Given the description of an element on the screen output the (x, y) to click on. 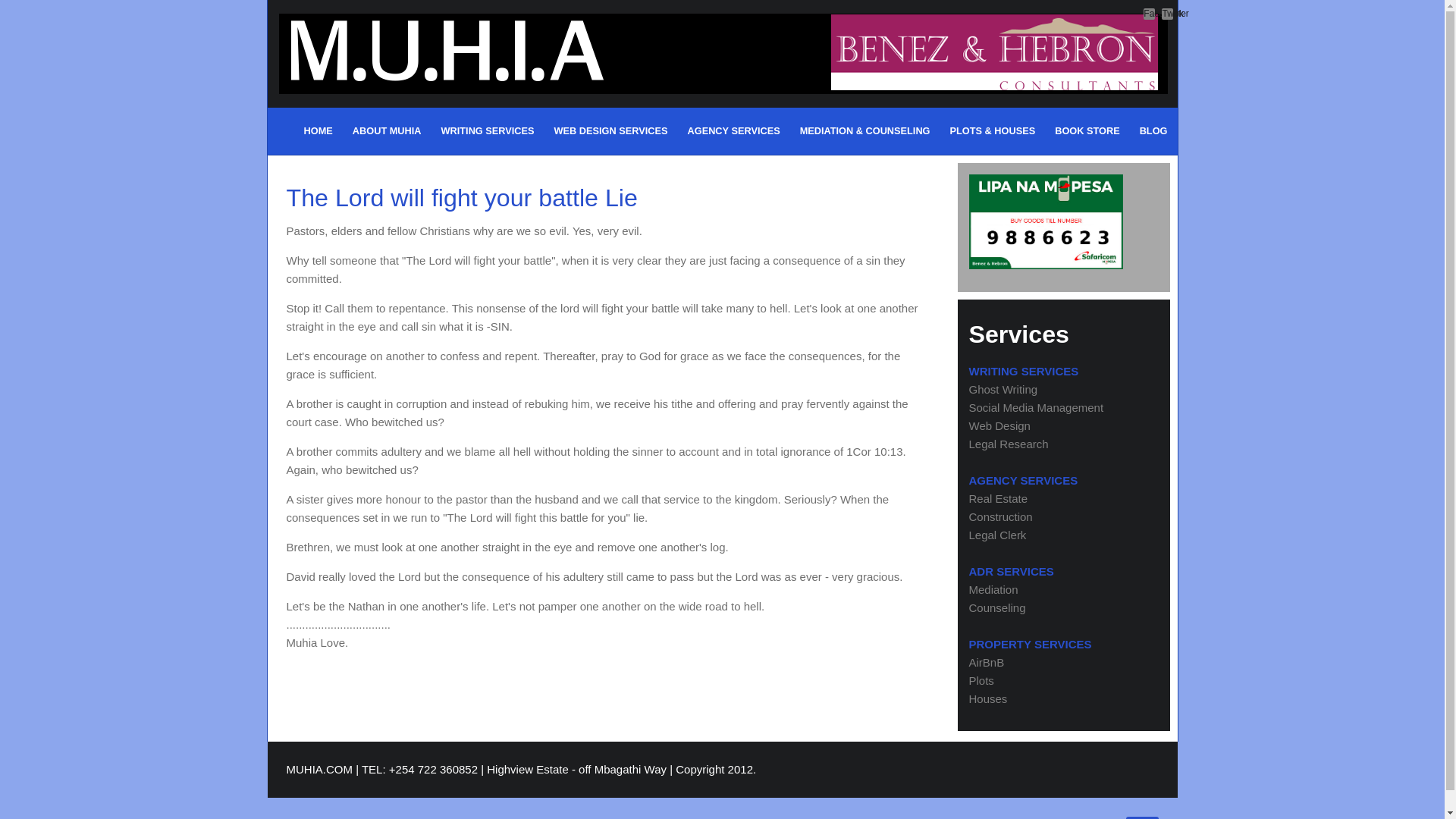
WRITING SERVICES (487, 130)
AGENCY SERVICES (733, 130)
ADR SERVICES (1011, 571)
PROPERTY SERVICES (1030, 644)
WEB DESIGN SERVICES (610, 130)
ABOUT MUHIA (386, 130)
BLOG (1153, 130)
Twitter (1167, 13)
HOME (318, 130)
WRITING SERVICES (1023, 370)
